Given the description of an element on the screen output the (x, y) to click on. 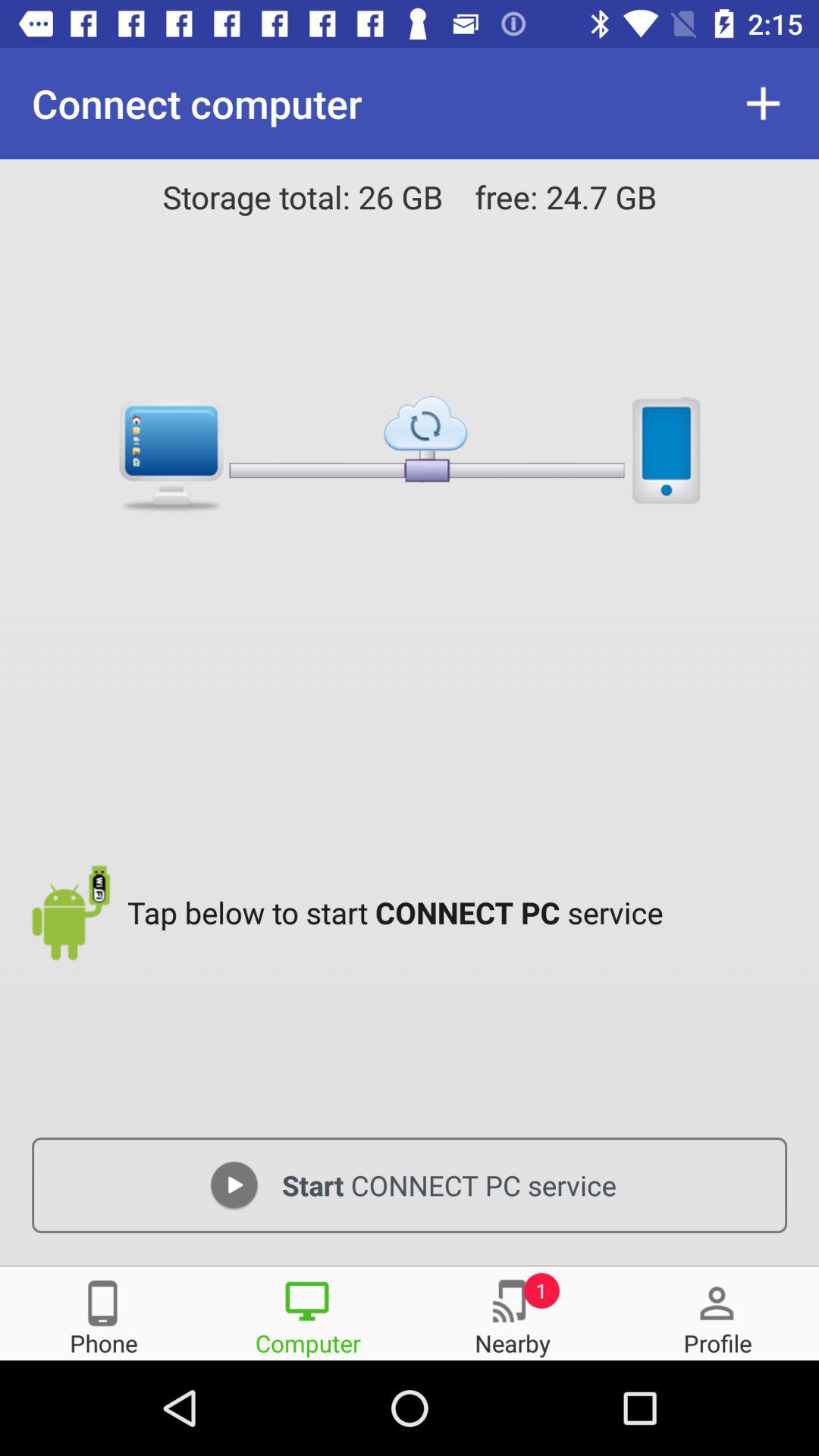
click the tap below to (461, 912)
